Given the description of an element on the screen output the (x, y) to click on. 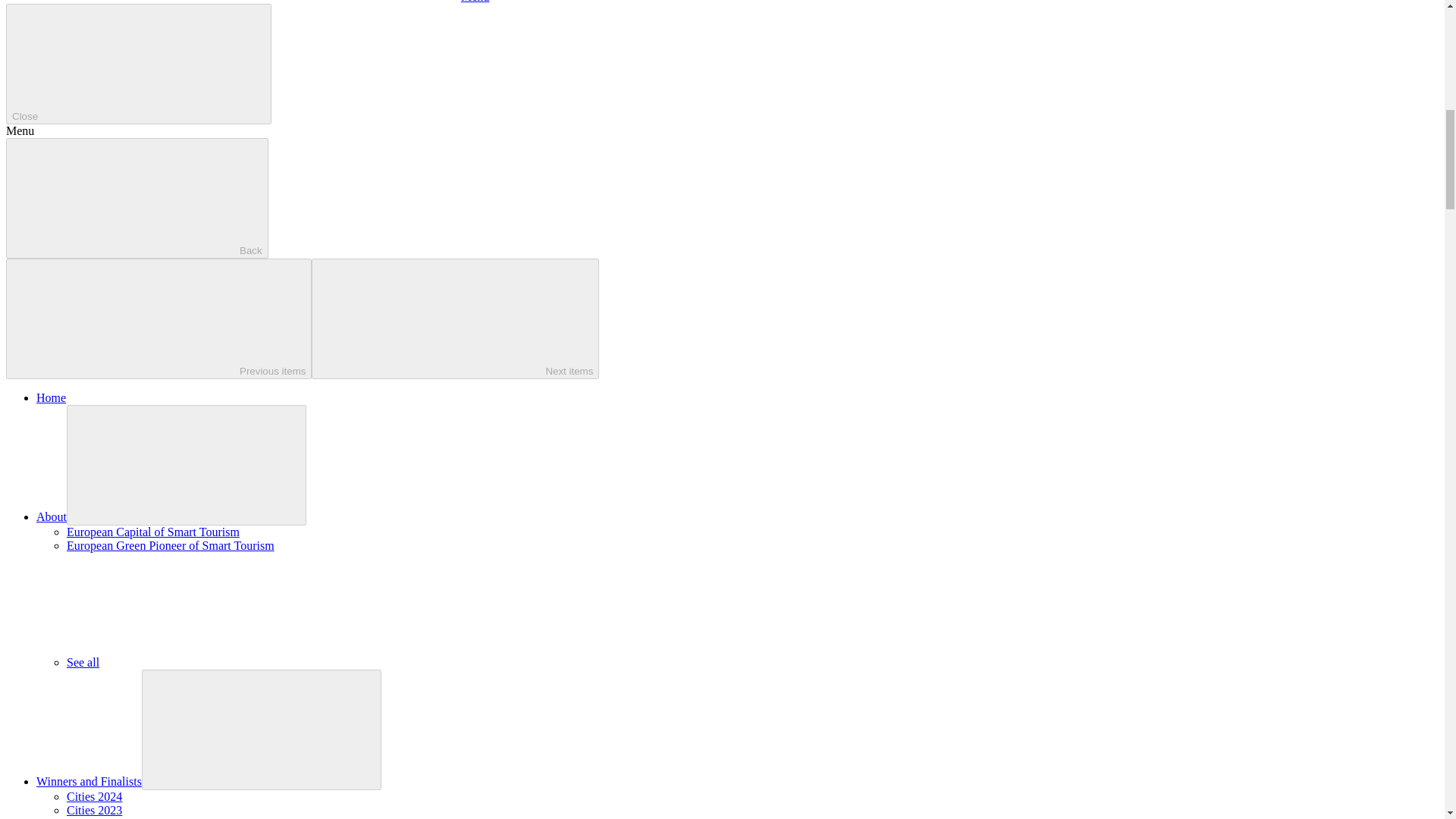
Cities 2022 (94, 818)
Cities 2024 (94, 796)
Next items (454, 318)
Back (136, 198)
European Capital of Smart Tourism (153, 531)
Winners and Finalists (88, 780)
About (51, 516)
Home (50, 397)
See all (196, 662)
Close (137, 64)
Previous items (158, 318)
European Green Pioneer of Smart Tourism (170, 545)
Cities 2023 (94, 809)
